Given the description of an element on the screen output the (x, y) to click on. 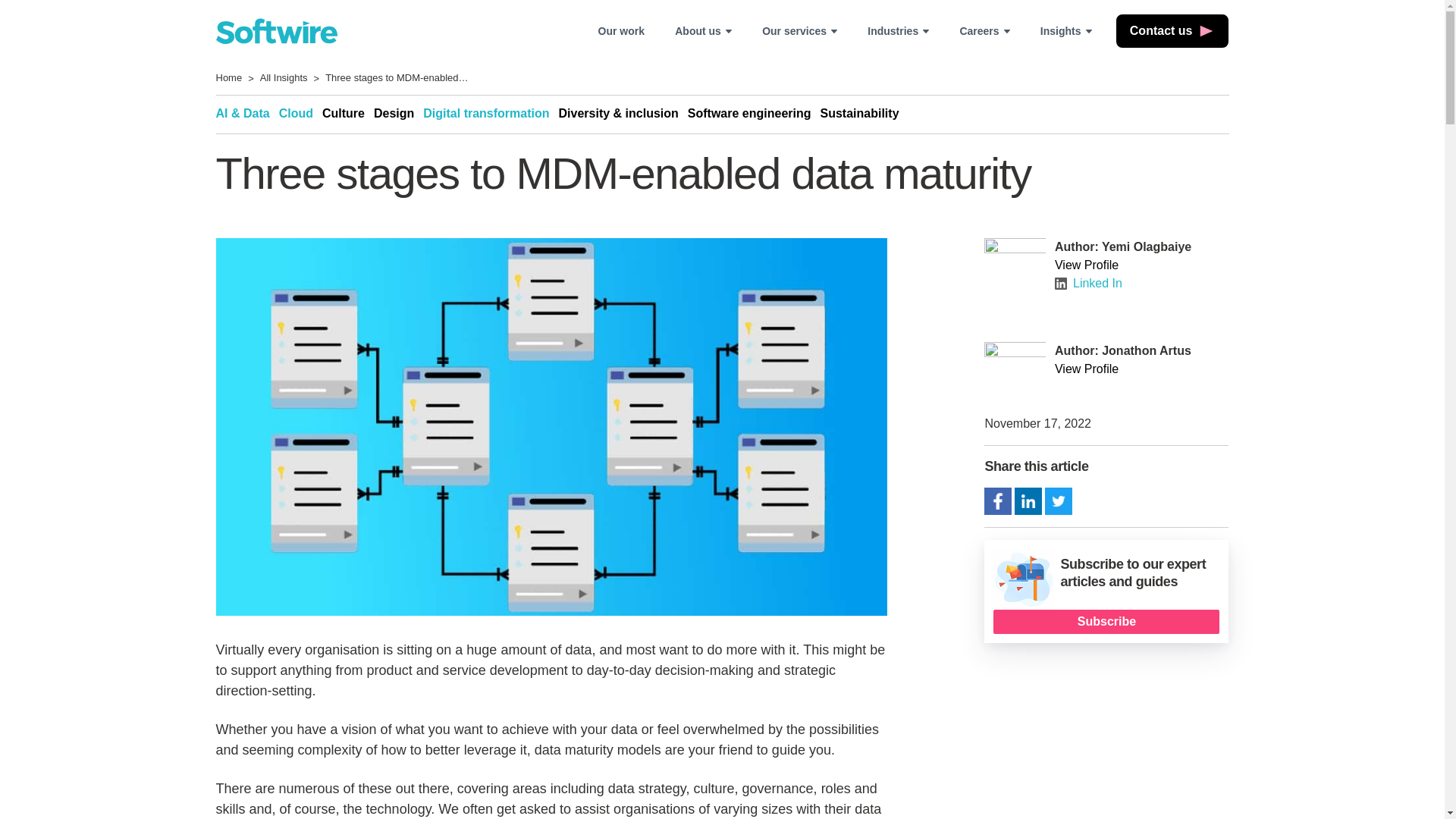
Go to Softwire. (228, 78)
View Profile (1141, 265)
Cloud (300, 113)
Software engineering (754, 113)
Linked In (1088, 283)
Home (228, 78)
All Insights (283, 78)
Culture (347, 113)
About us (703, 30)
Design (398, 113)
